Given the description of an element on the screen output the (x, y) to click on. 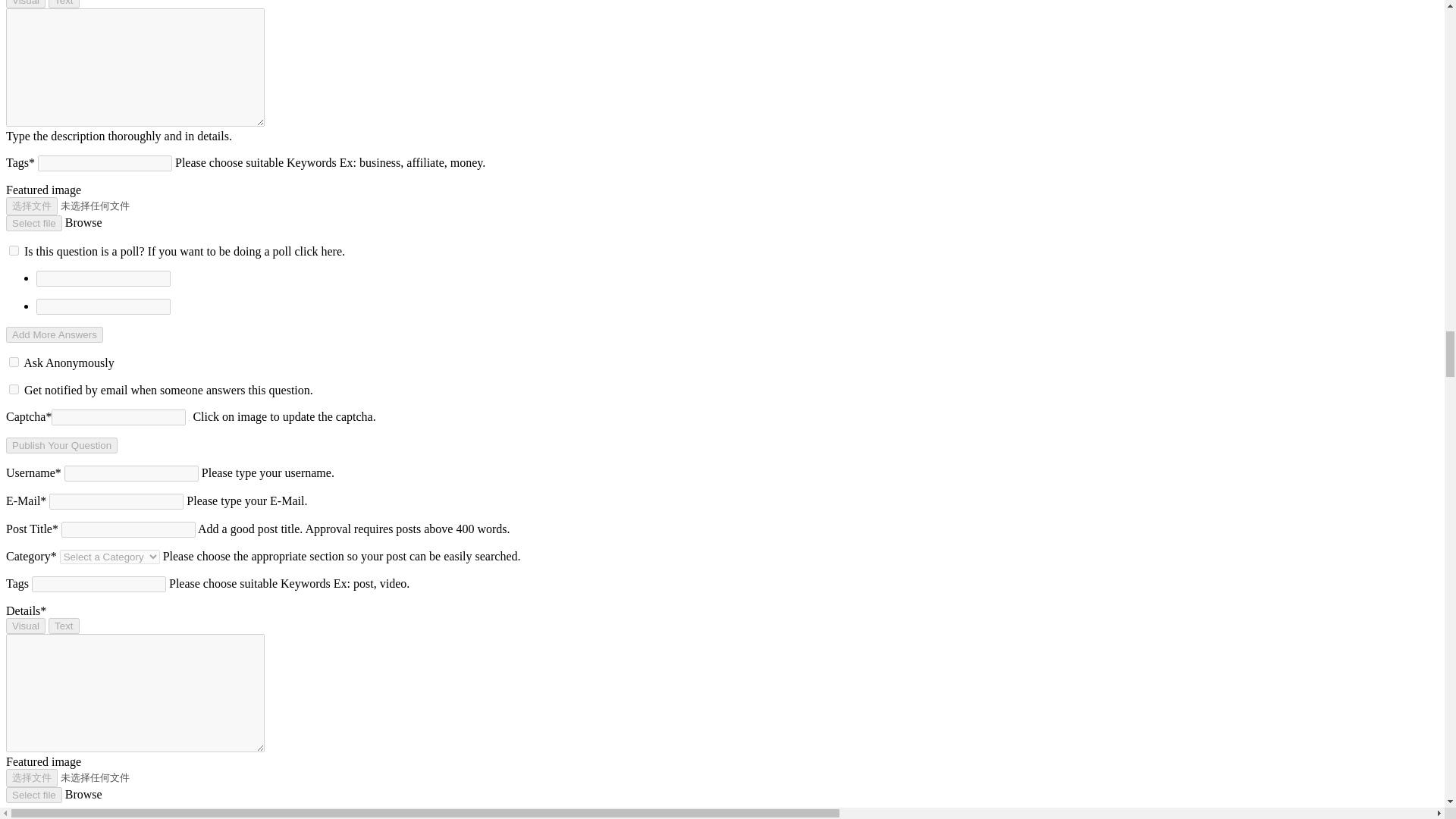
Text (63, 4)
Publish Your Question (61, 445)
Select file (33, 795)
Visual (25, 625)
Text (63, 625)
on (13, 250)
Select file (33, 222)
Add More Answers (54, 334)
Visual (25, 4)
